Given the description of an element on the screen output the (x, y) to click on. 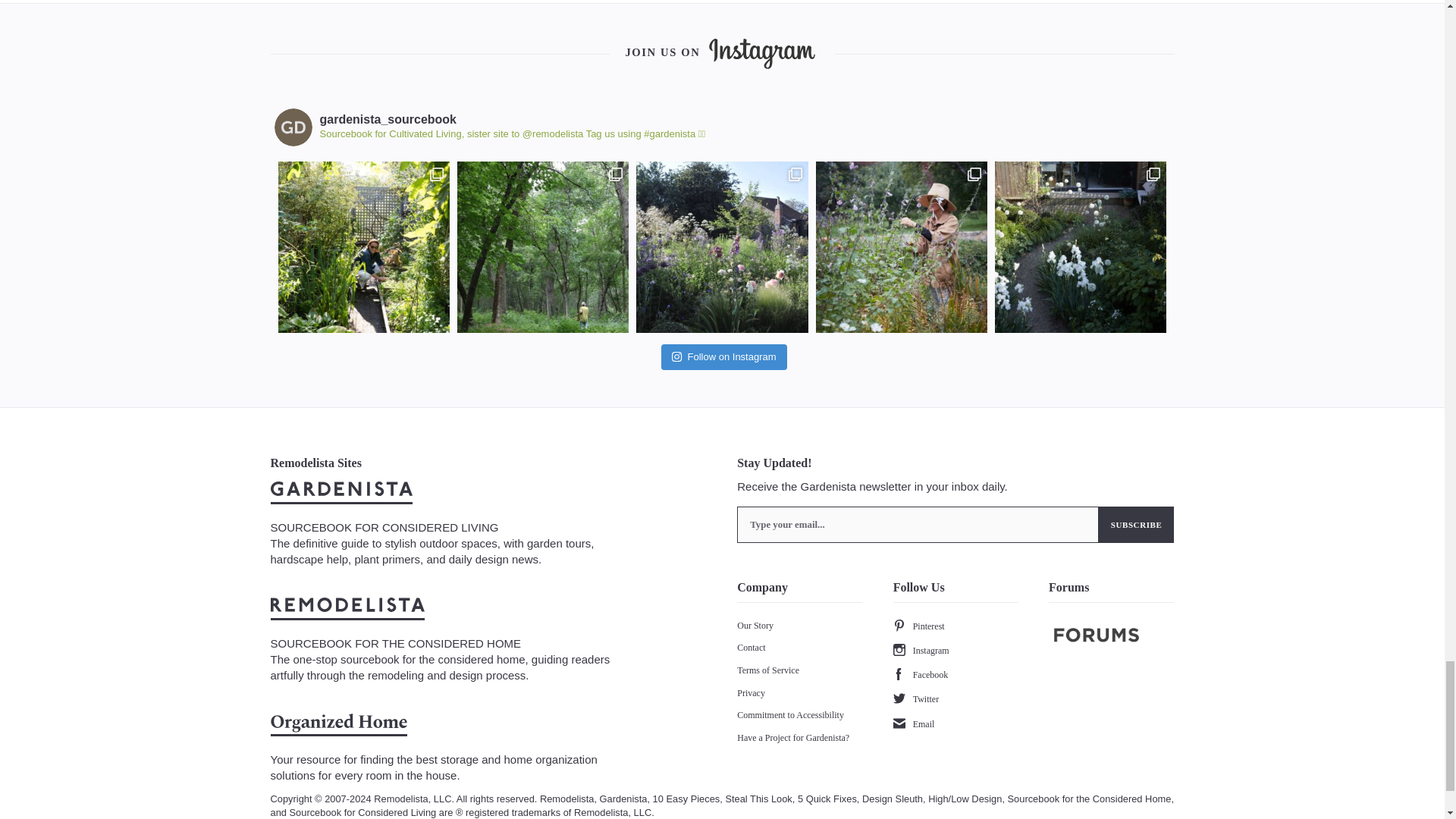
Subscribe (1136, 524)
